Given the description of an element on the screen output the (x, y) to click on. 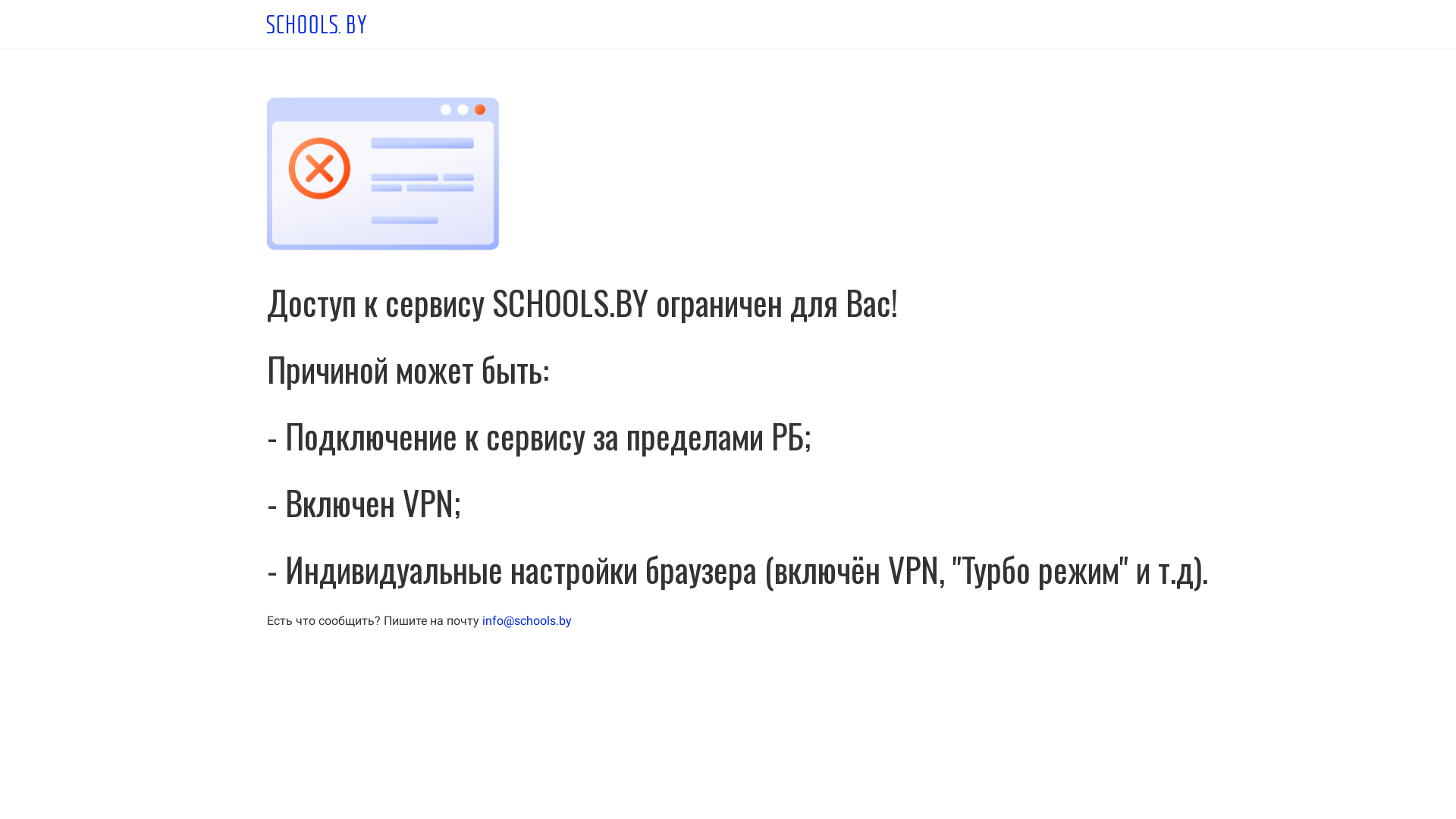
info@schools.by Element type: text (526, 620)
